Given the description of an element on the screen output the (x, y) to click on. 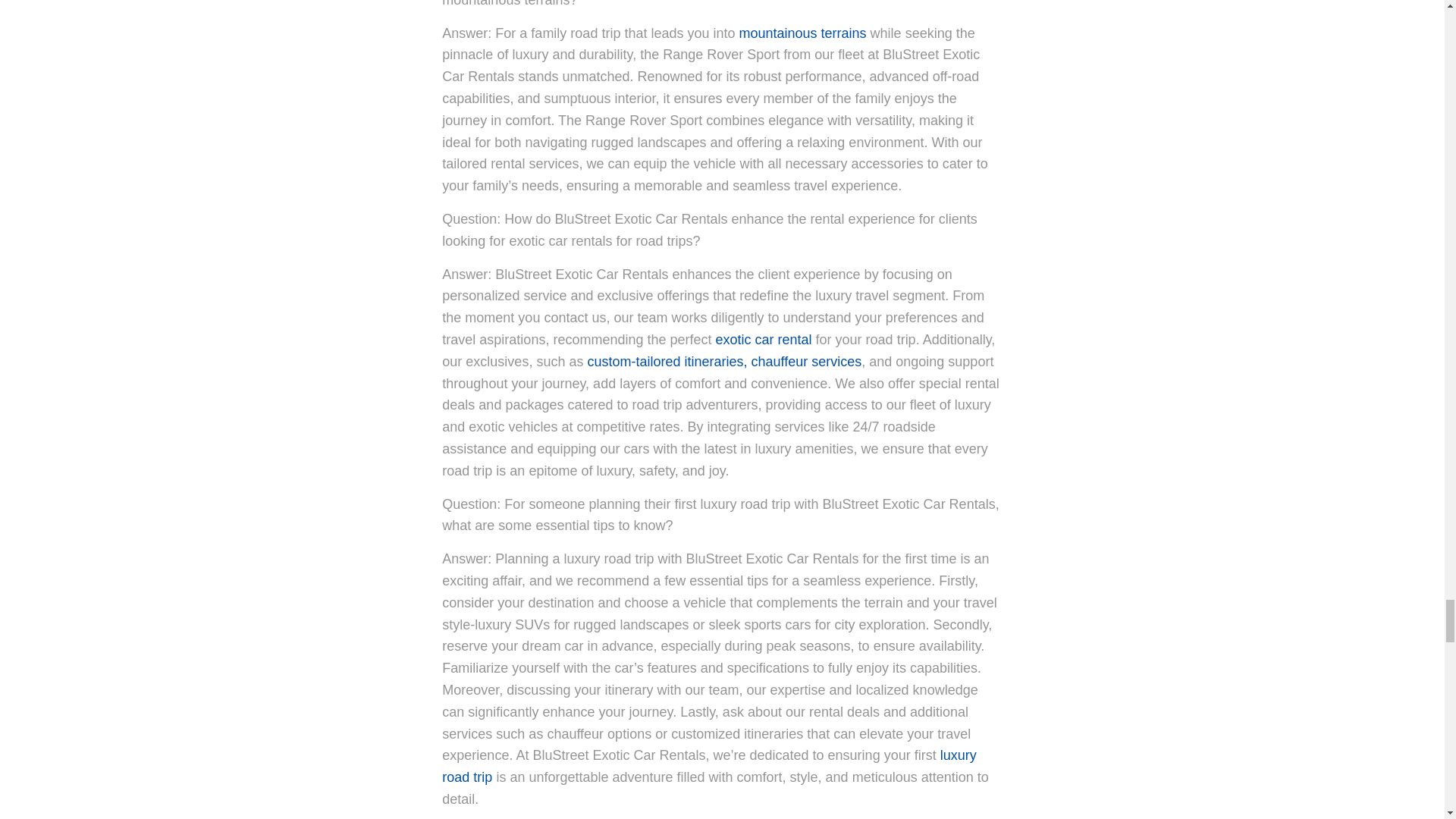
mountainous terrains (802, 32)
exotic car rental (764, 339)
custom-tailored itineraries, chauffeur services (723, 361)
luxury road trip (708, 765)
